Given the description of an element on the screen output the (x, y) to click on. 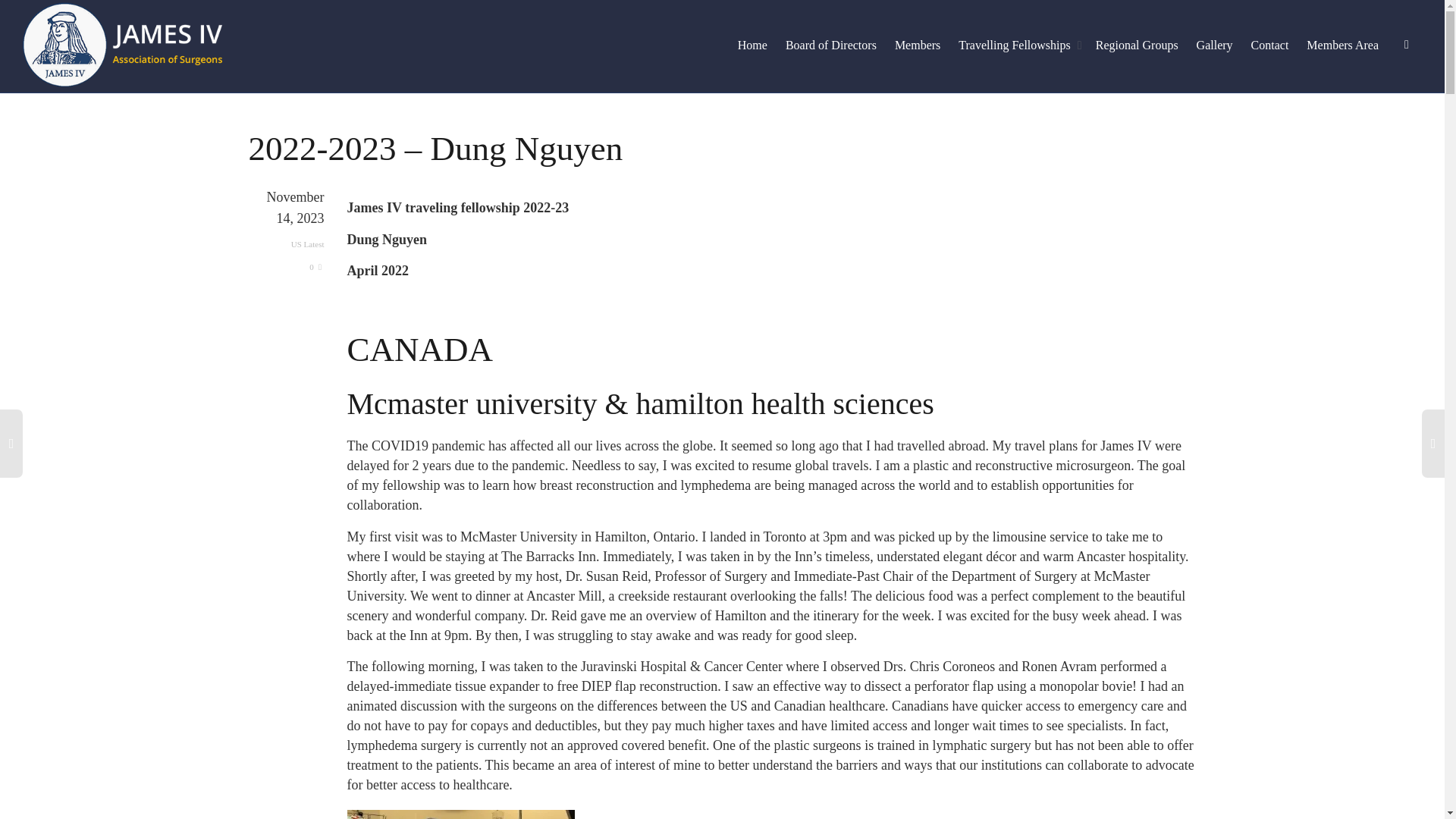
0 (315, 266)
US Latest (307, 243)
James IV Association of Surgeons (122, 45)
Regional Groups (1136, 45)
November 14, 2023 (286, 219)
Travelling Fellowships (1017, 45)
Regional Groups (1136, 45)
Board of Directors (831, 45)
Travelling Fellowships (1017, 45)
Board of Directors (831, 45)
